Given the description of an element on the screen output the (x, y) to click on. 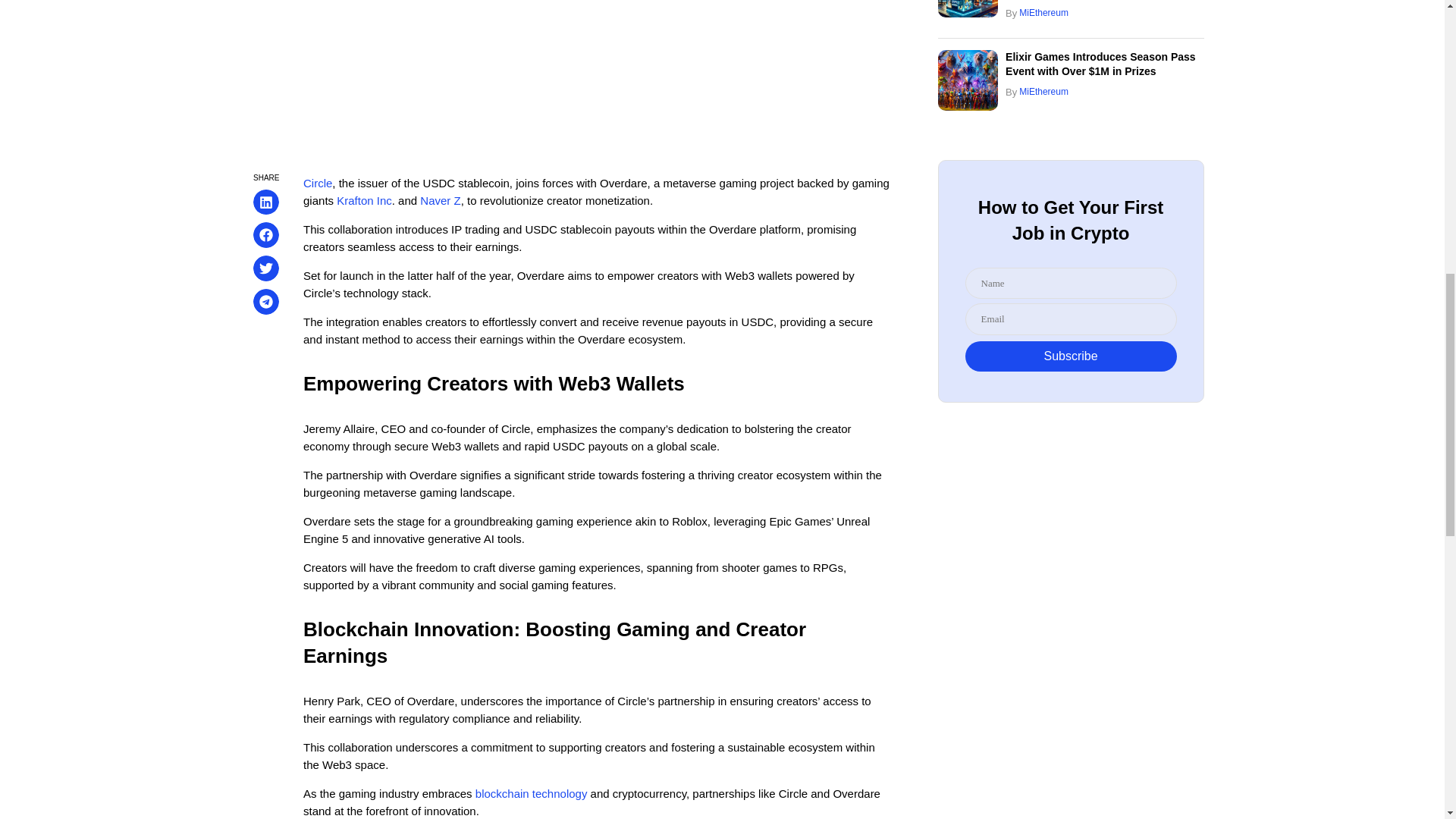
Circle (316, 182)
Naver Z (440, 200)
blockchain technology (532, 793)
Advertisement (566, 74)
Krafton Inc (363, 200)
